Given the description of an element on the screen output the (x, y) to click on. 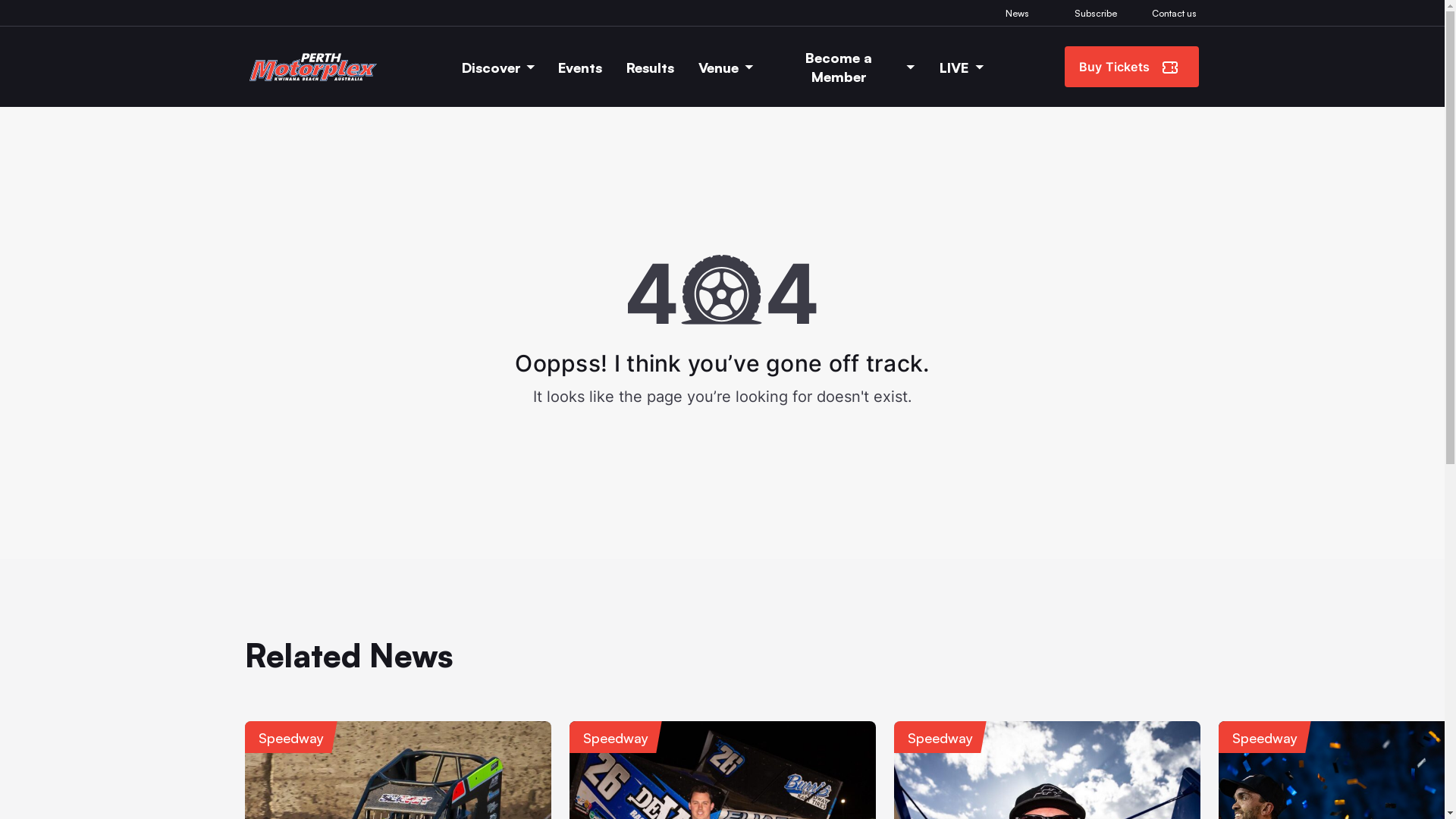
Buy Tickets Element type: text (1131, 66)
Become a Member Element type: text (845, 66)
Contact us Element type: text (1173, 12)
Venue Element type: text (725, 66)
Results Element type: text (650, 66)
Events Element type: text (580, 66)
Discover Element type: text (497, 66)
News Element type: text (1017, 12)
Subscribe Element type: text (1095, 12)
LIVE Element type: text (961, 66)
